Given the description of an element on the screen output the (x, y) to click on. 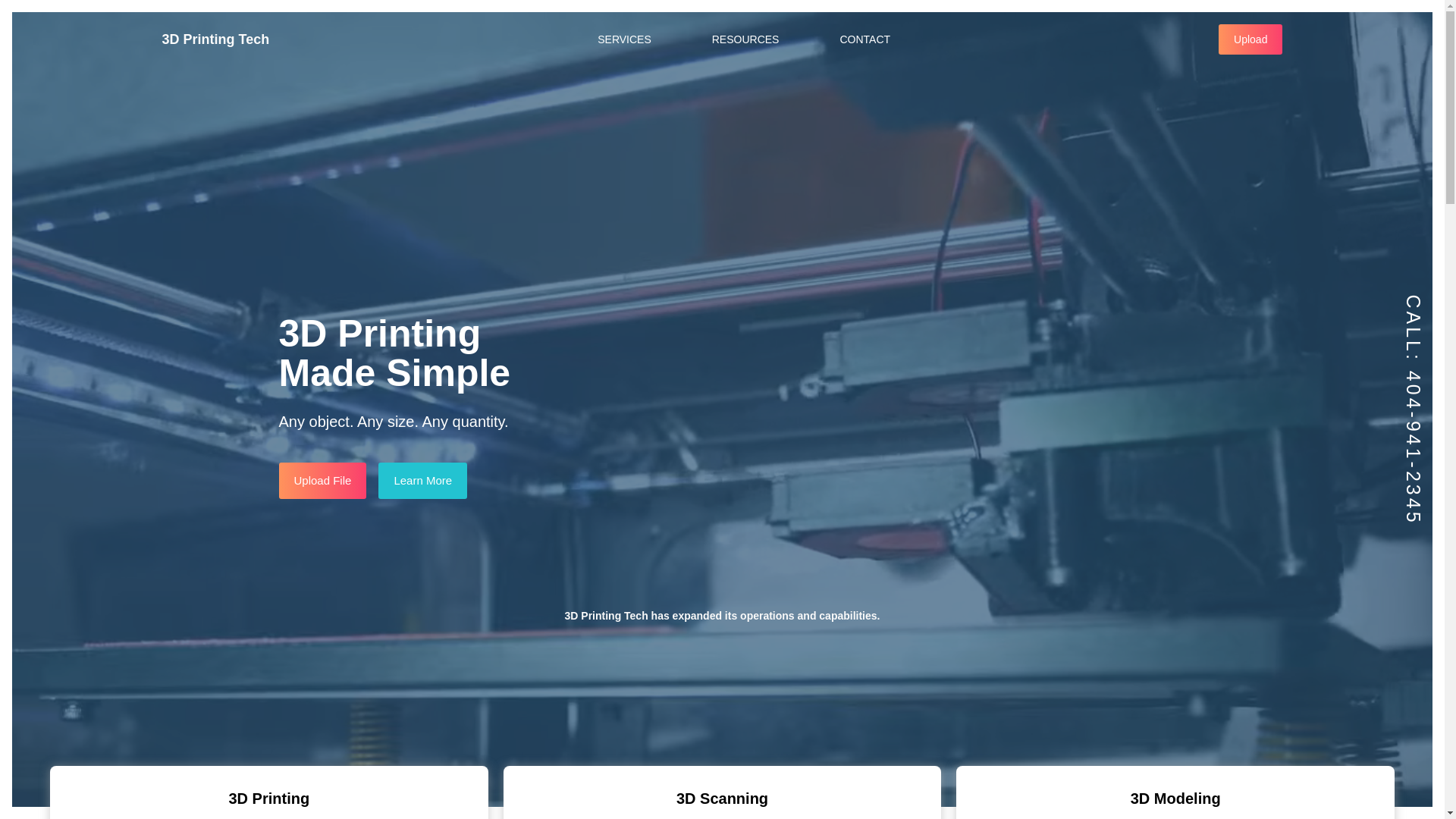
Upload Element type: text (1250, 39)
Upload File Element type: text (323, 480)
3D Printing Tech Element type: text (215, 39)
Learn More Element type: text (422, 480)
CONTACT Element type: text (864, 38)
